Given the description of an element on the screen output the (x, y) to click on. 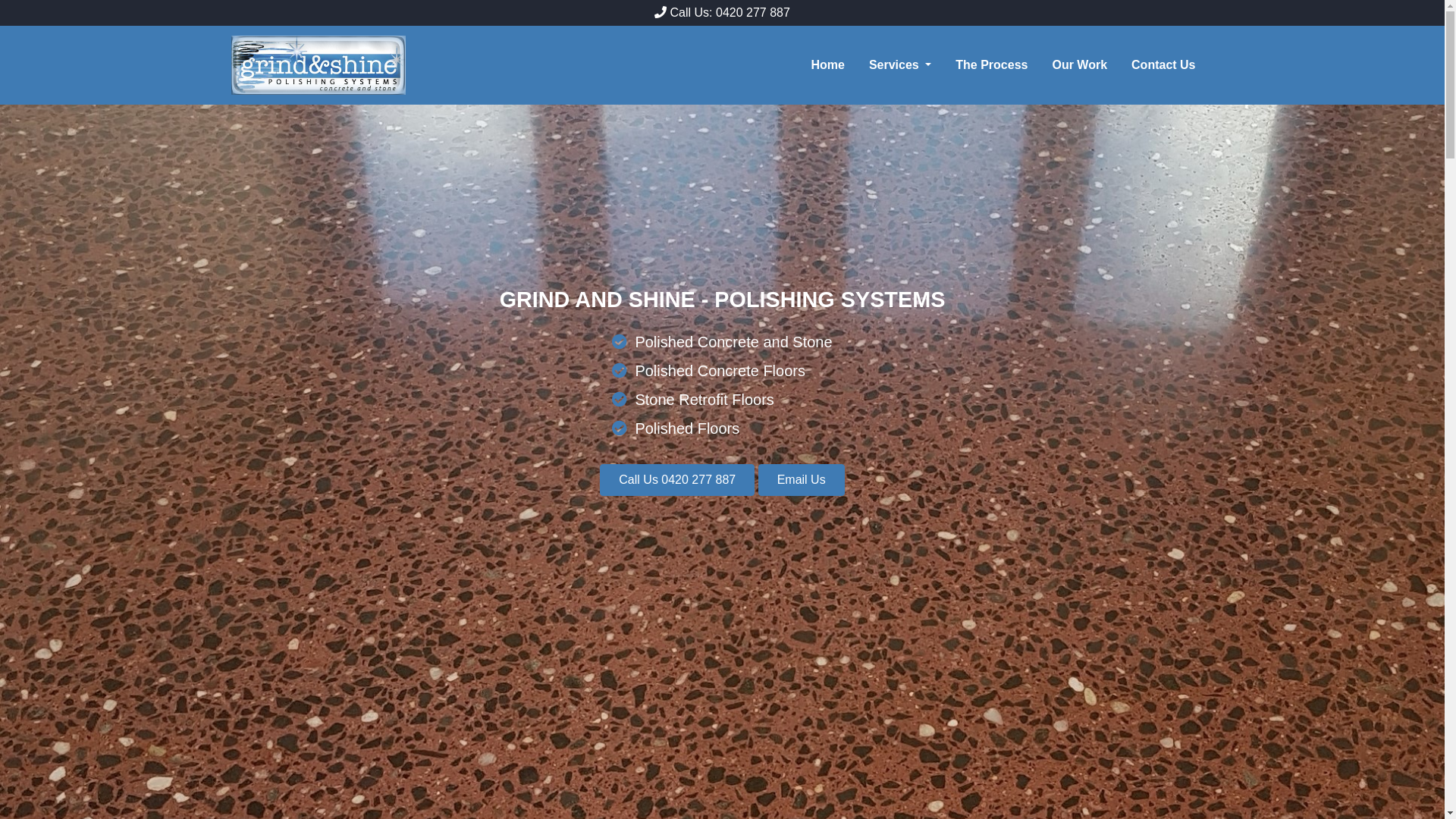
The Process Element type: text (997, 64)
Email Us Element type: text (801, 479)
Services Element type: text (905, 64)
Contact Us Element type: text (1169, 64)
Home Element type: text (833, 64)
Call Us 0420 277 887 Element type: text (676, 479)
Our Work Element type: text (1085, 64)
0420 277 887 Element type: text (752, 12)
